Given the description of an element on the screen output the (x, y) to click on. 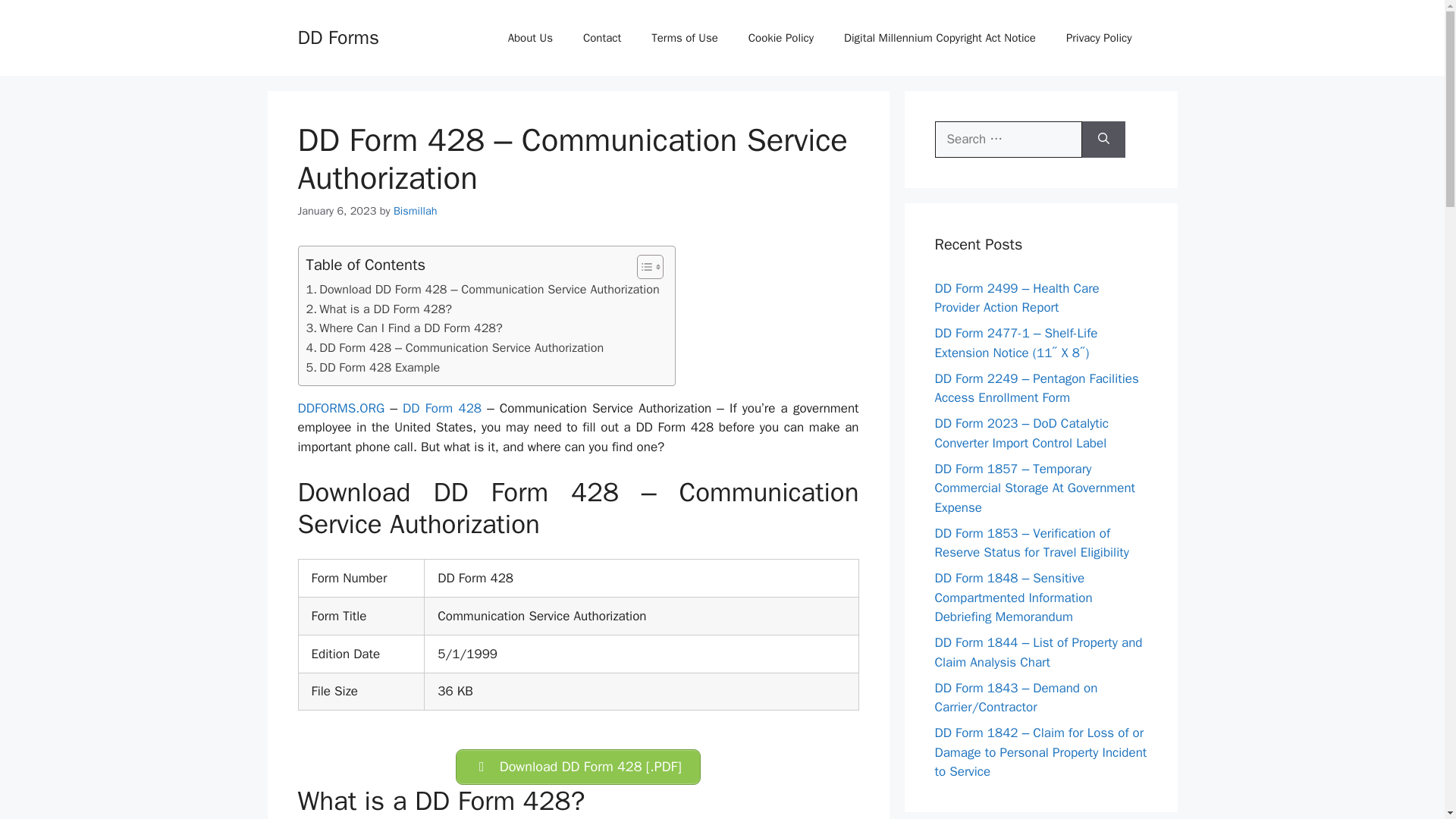
DD Form 428 (442, 408)
About Us (530, 37)
Bismillah (415, 210)
DD Form 428 Example (373, 367)
Contact (601, 37)
View all posts by Bismillah (415, 210)
Where Can I Find a DD Form 428? (403, 328)
Terms of Use (684, 37)
DD Form 428 Example (373, 367)
Cookie Policy (780, 37)
DD Forms (337, 37)
DDFORMS.ORG (340, 408)
What is a DD Form 428? (378, 309)
Digital Millennium Copyright Act Notice (939, 37)
Download DD Form 428 (577, 766)
